Given the description of an element on the screen output the (x, y) to click on. 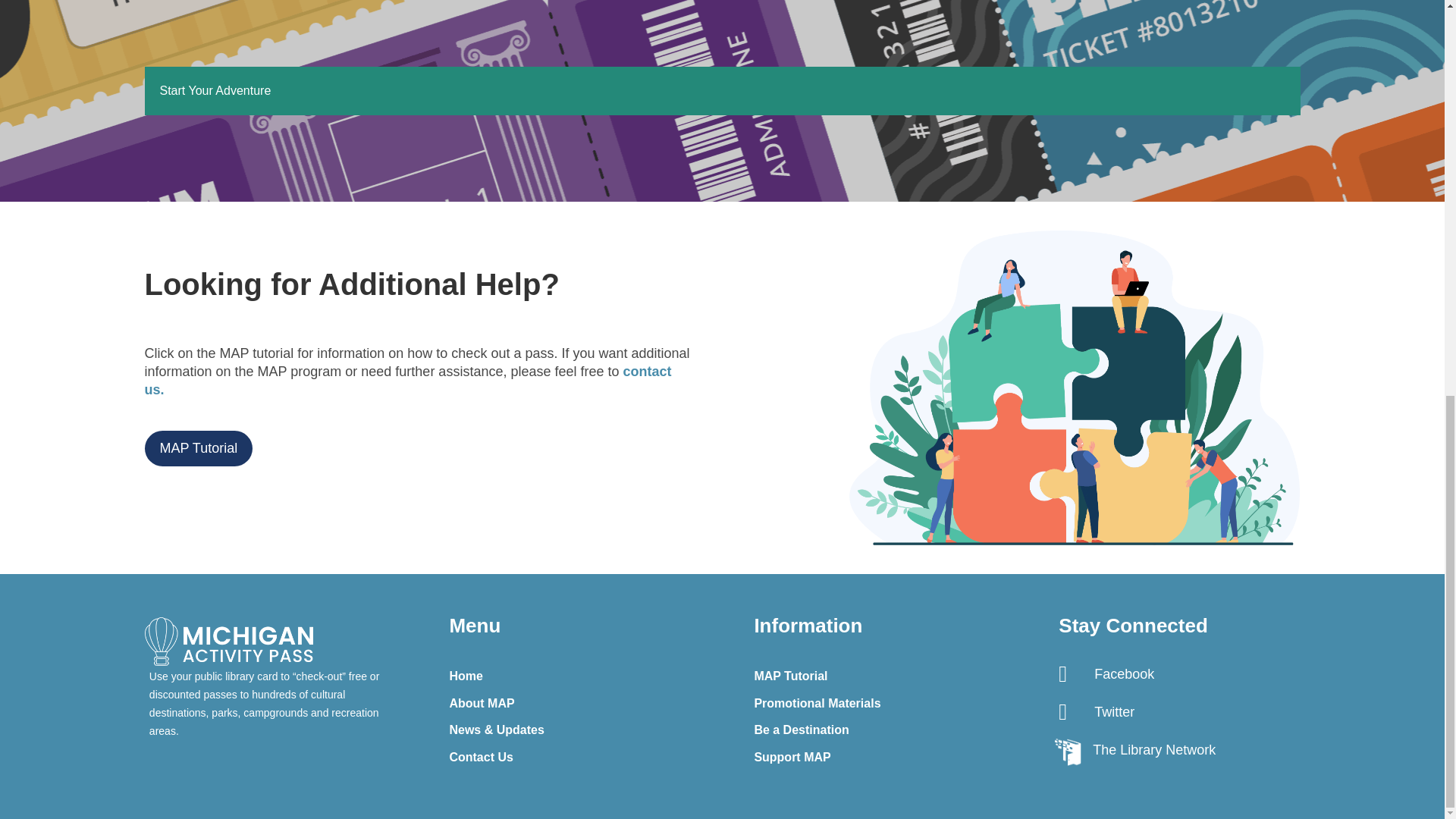
MAP Tutorial (197, 448)
Logo Combination - Horizontal - White - md (228, 641)
contact us. (407, 380)
